Given the description of an element on the screen output the (x, y) to click on. 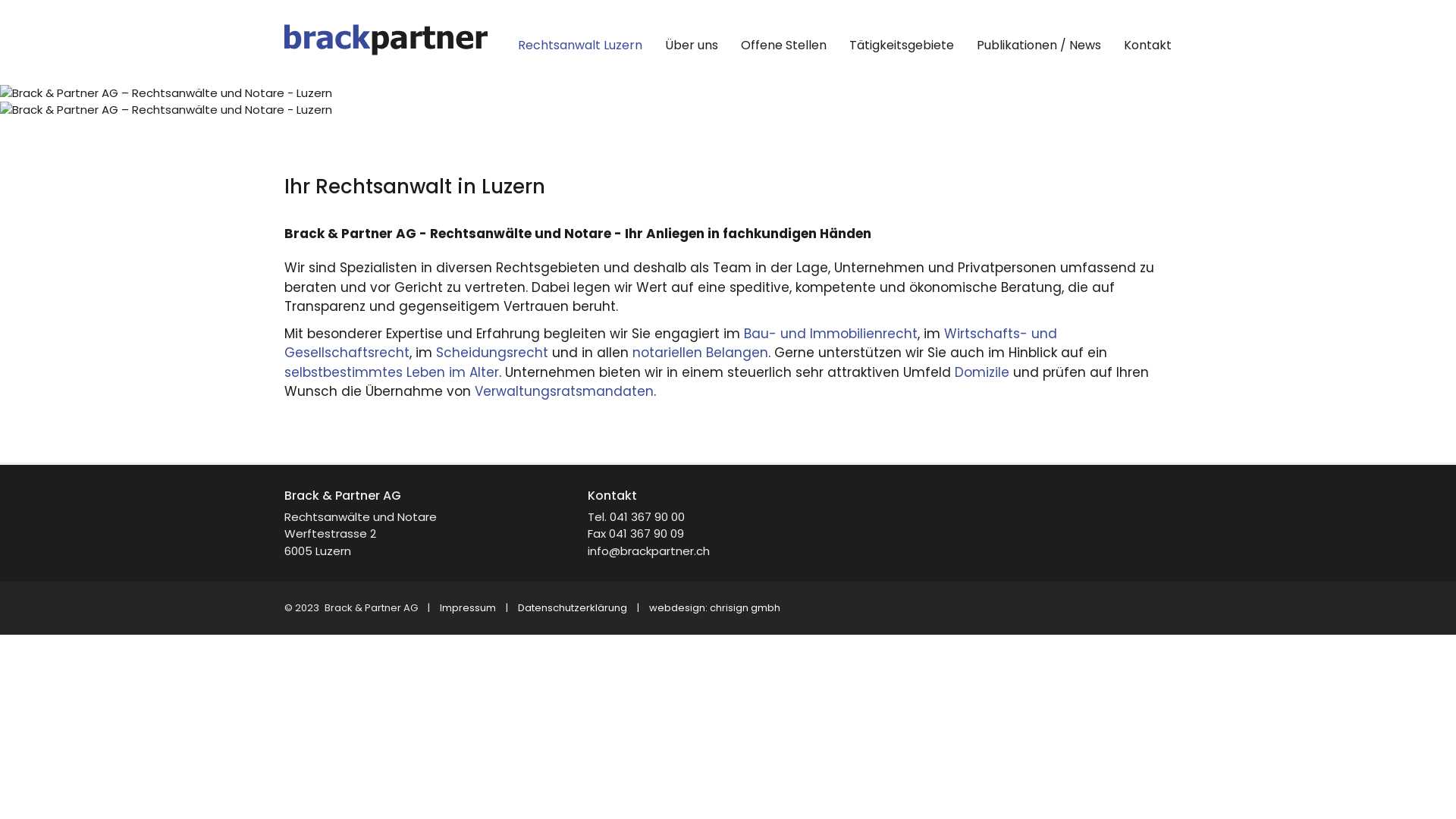
notariellen Belangen Element type: text (700, 352)
Kontakt Element type: text (1147, 52)
webdesign: chrisign gmbh Element type: text (714, 607)
info@brackpartner.ch Element type: text (648, 550)
Impressum Element type: text (467, 607)
Verwaltungsratsmandaten Element type: text (563, 391)
Bau- und Immobilienrecht Element type: text (830, 333)
Rechtsanwalt Luzern Element type: text (579, 52)
Offene Stellen Element type: text (783, 52)
Publikationen / News Element type: text (1038, 52)
Scheidungsrecht Element type: text (492, 352)
Domizile Element type: text (981, 371)
Tel. 041 367 90 00 Element type: text (635, 516)
selbstbestimmtes Leben im Alter Element type: text (391, 371)
Wirtschafts- und Gesellschaftsrecht Element type: text (670, 343)
Brack & Partner AG Element type: hover (385, 42)
